Given the description of an element on the screen output the (x, y) to click on. 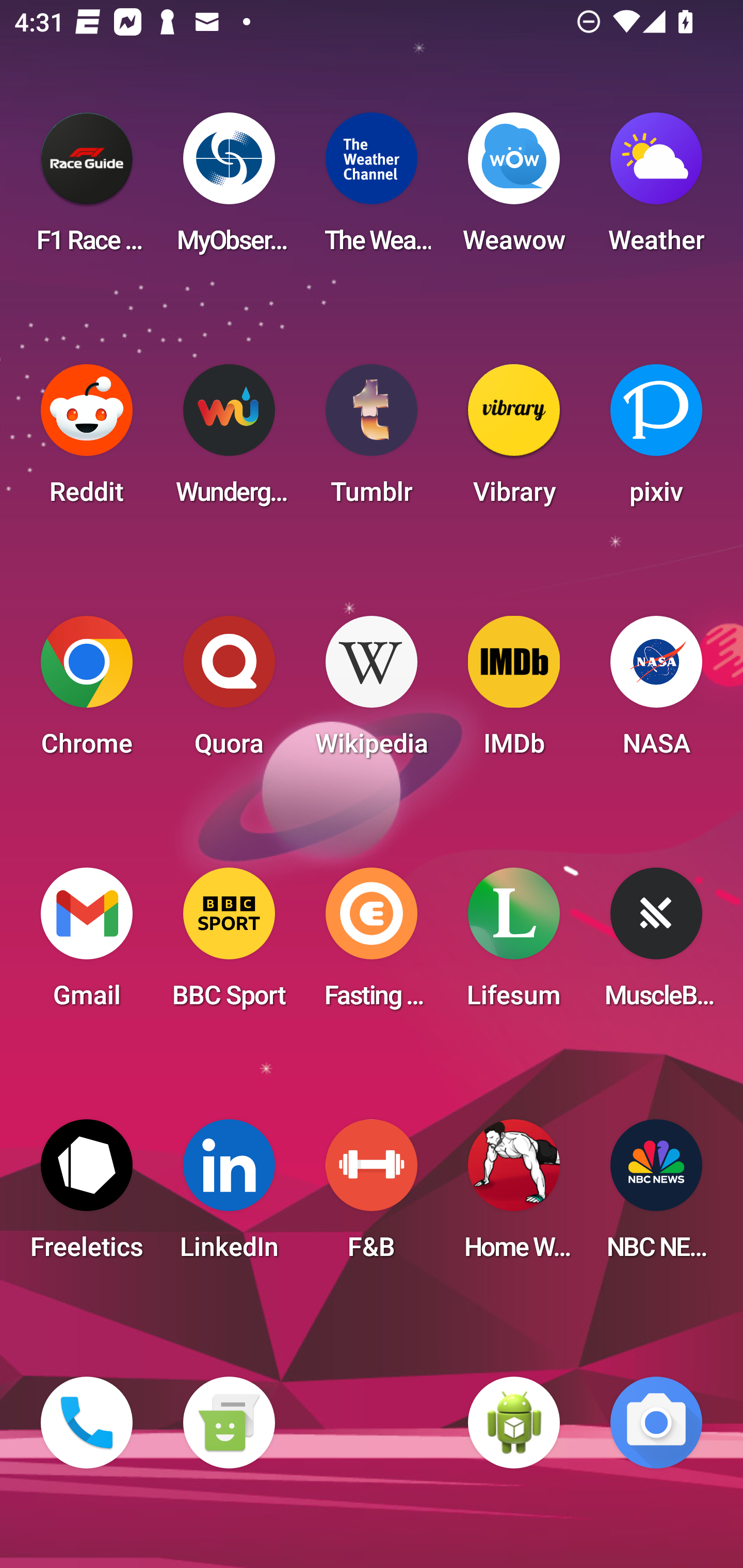
F1 Race Guide (86, 188)
MyObservatory (228, 188)
The Weather Channel (371, 188)
Weawow (513, 188)
Weather (656, 188)
Reddit (86, 440)
Wunderground (228, 440)
Tumblr (371, 440)
Vibrary (513, 440)
pixiv (656, 440)
Chrome (86, 692)
Quora (228, 692)
Wikipedia (371, 692)
IMDb (513, 692)
NASA (656, 692)
Gmail (86, 943)
BBC Sport (228, 943)
Fasting Coach (371, 943)
Lifesum (513, 943)
MuscleBooster (656, 943)
Freeletics (86, 1195)
LinkedIn (228, 1195)
F&B (371, 1195)
Home Workout (513, 1195)
NBC NEWS (656, 1195)
Phone (86, 1422)
Messaging (228, 1422)
WebView Browser Tester (513, 1422)
Camera (656, 1422)
